Given the description of an element on the screen output the (x, y) to click on. 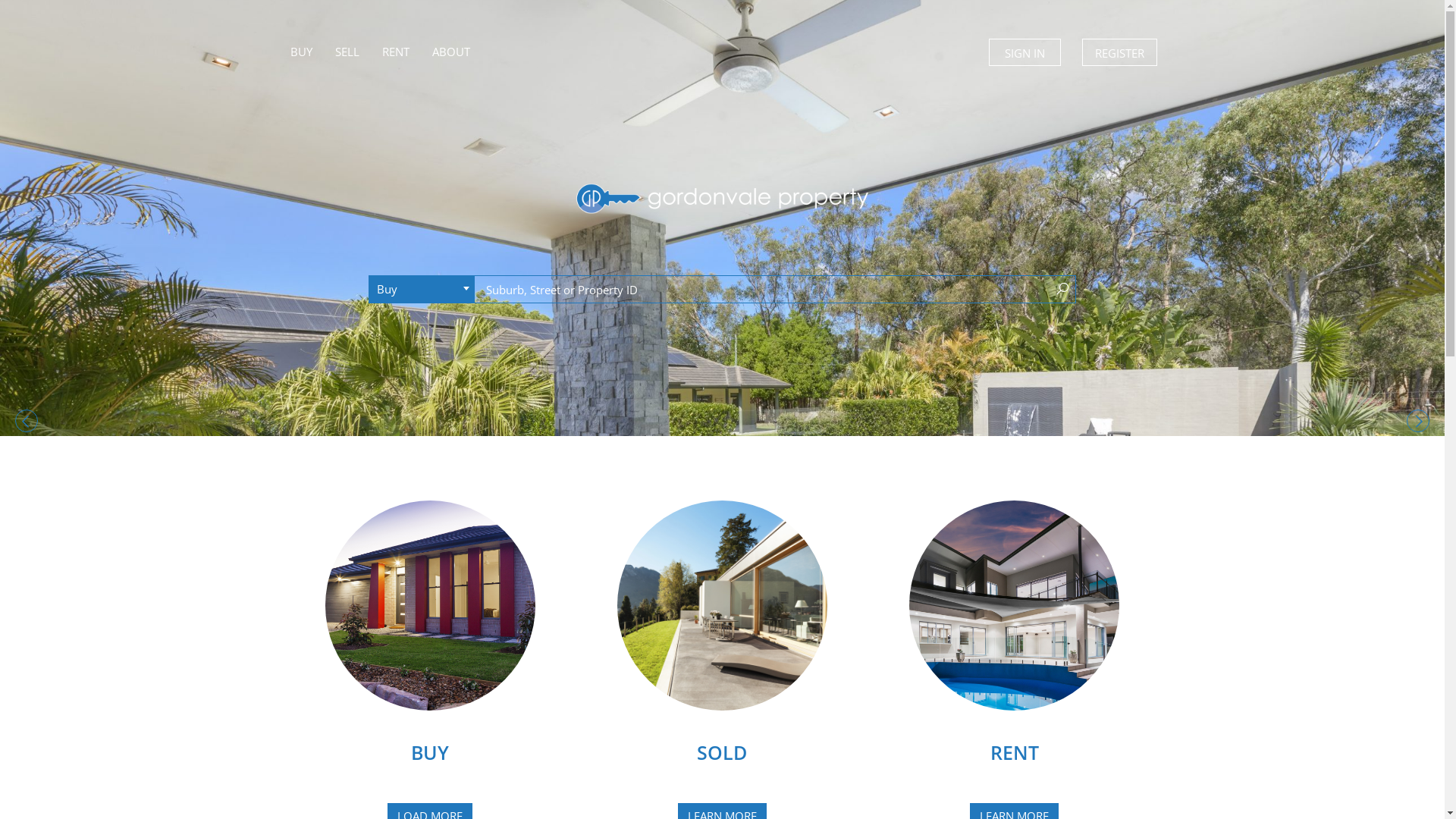
BUY Element type: text (429, 753)
ABOUT Element type: text (450, 51)
BUY Element type: hover (430, 605)
RENT Element type: text (395, 51)
SOLD Element type: text (722, 753)
SIGN IN Element type: text (1024, 51)
RENT Element type: text (1014, 753)
BUY Element type: text (301, 51)
SELL Element type: text (346, 51)
SOLD Element type: hover (722, 605)
REGISTER Element type: text (1118, 51)
RENT Element type: hover (1014, 605)
